Given the description of an element on the screen output the (x, y) to click on. 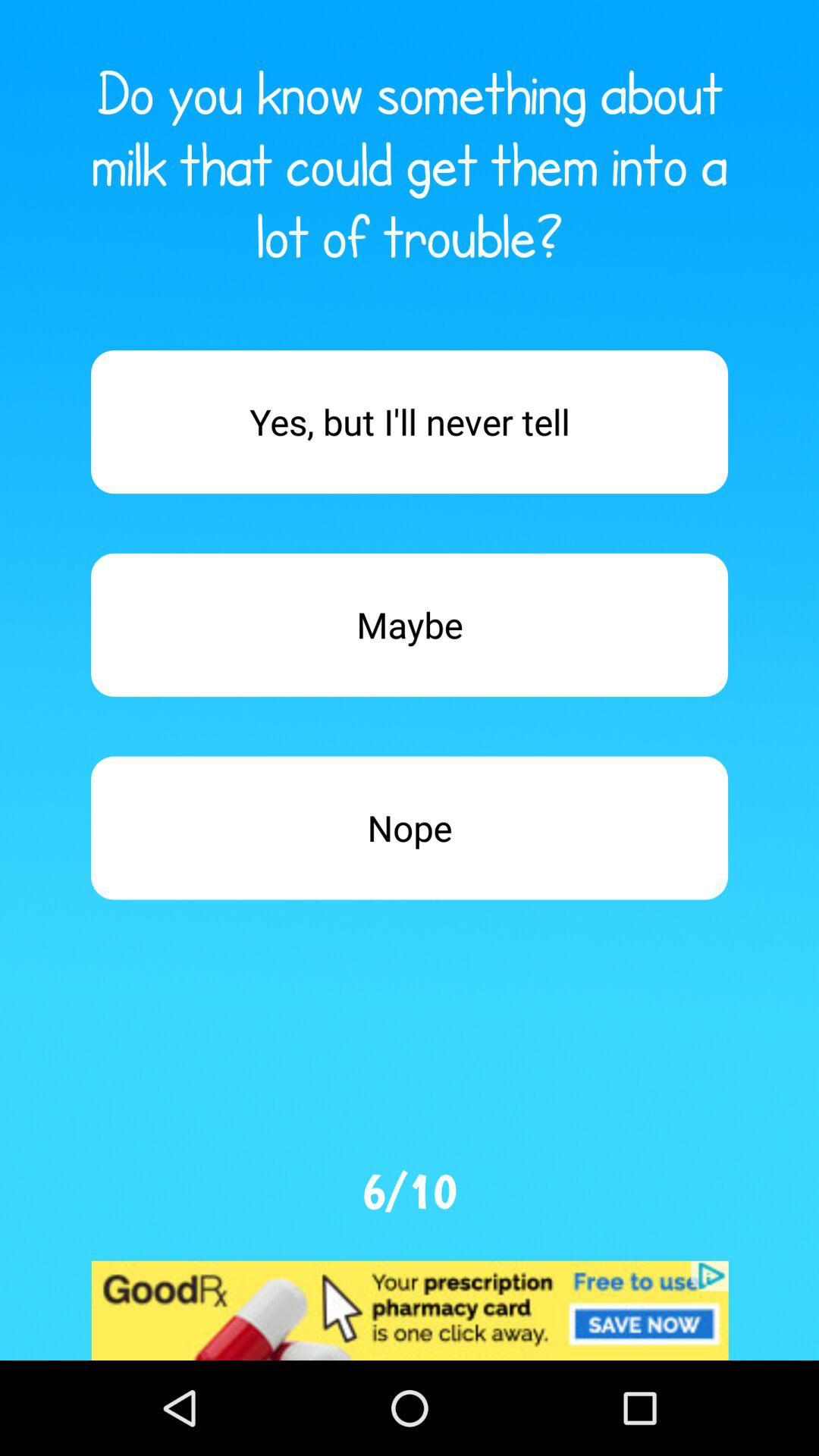
select nope option (409, 827)
